Given the description of an element on the screen output the (x, y) to click on. 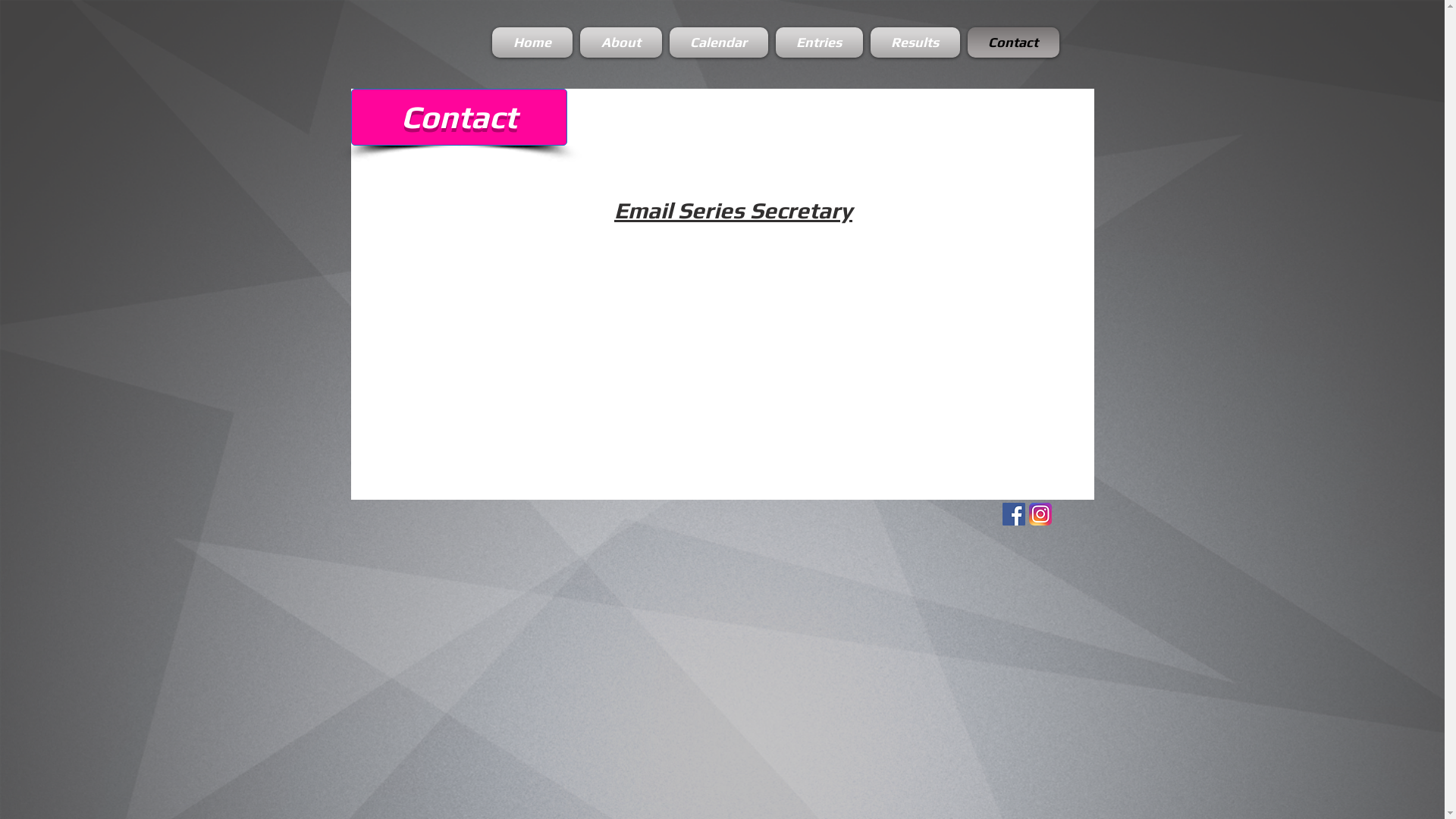
Entries Element type: text (818, 42)
Calendar Element type: text (718, 42)
About Element type: text (620, 42)
Results Element type: text (914, 42)
Home Element type: text (533, 42)
Contact Element type: text (1010, 42)
Email Series Secretary Element type: text (733, 210)
